Given the description of an element on the screen output the (x, y) to click on. 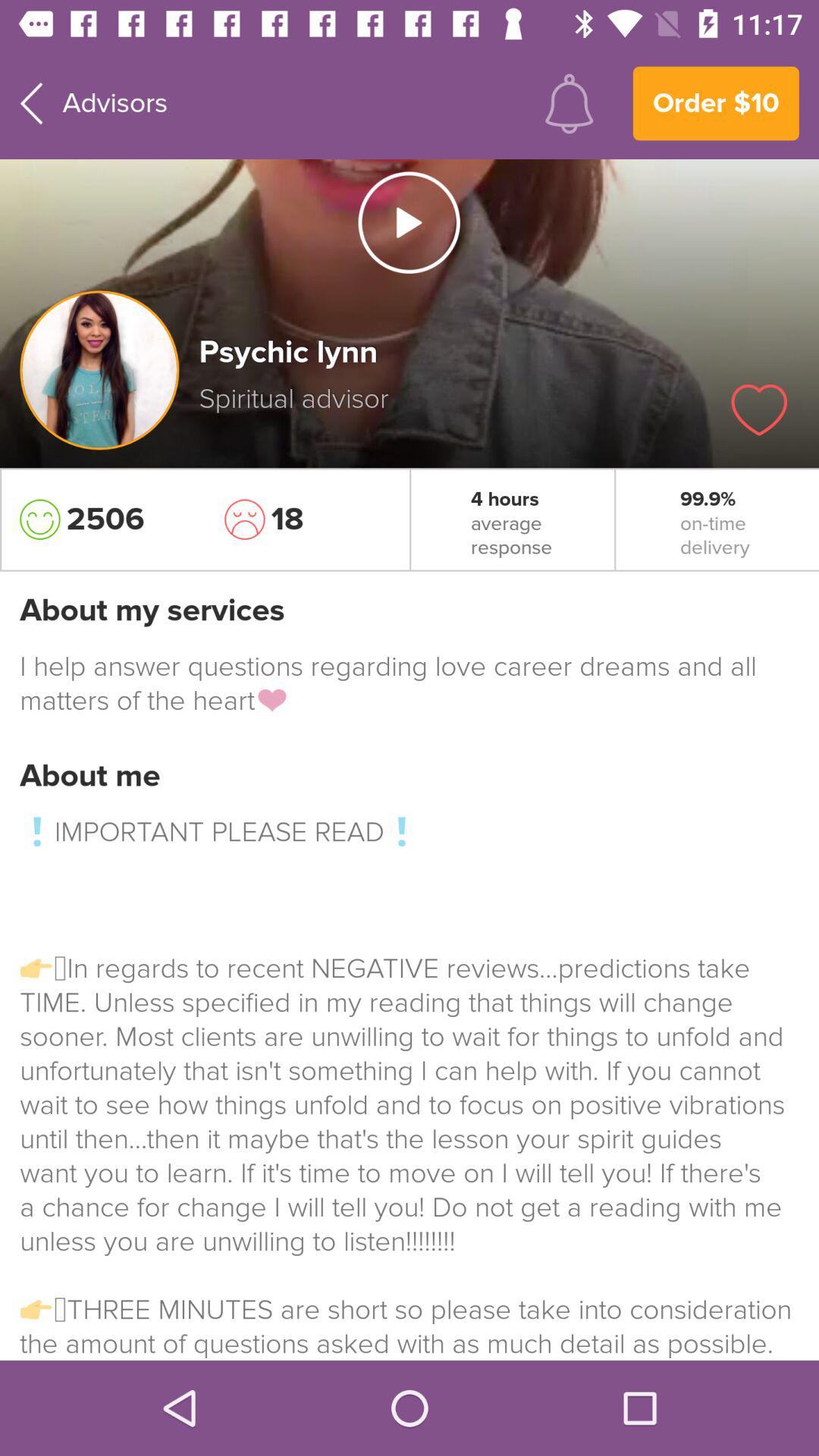
launch icon above 99.9% (759, 409)
